Given the description of an element on the screen output the (x, y) to click on. 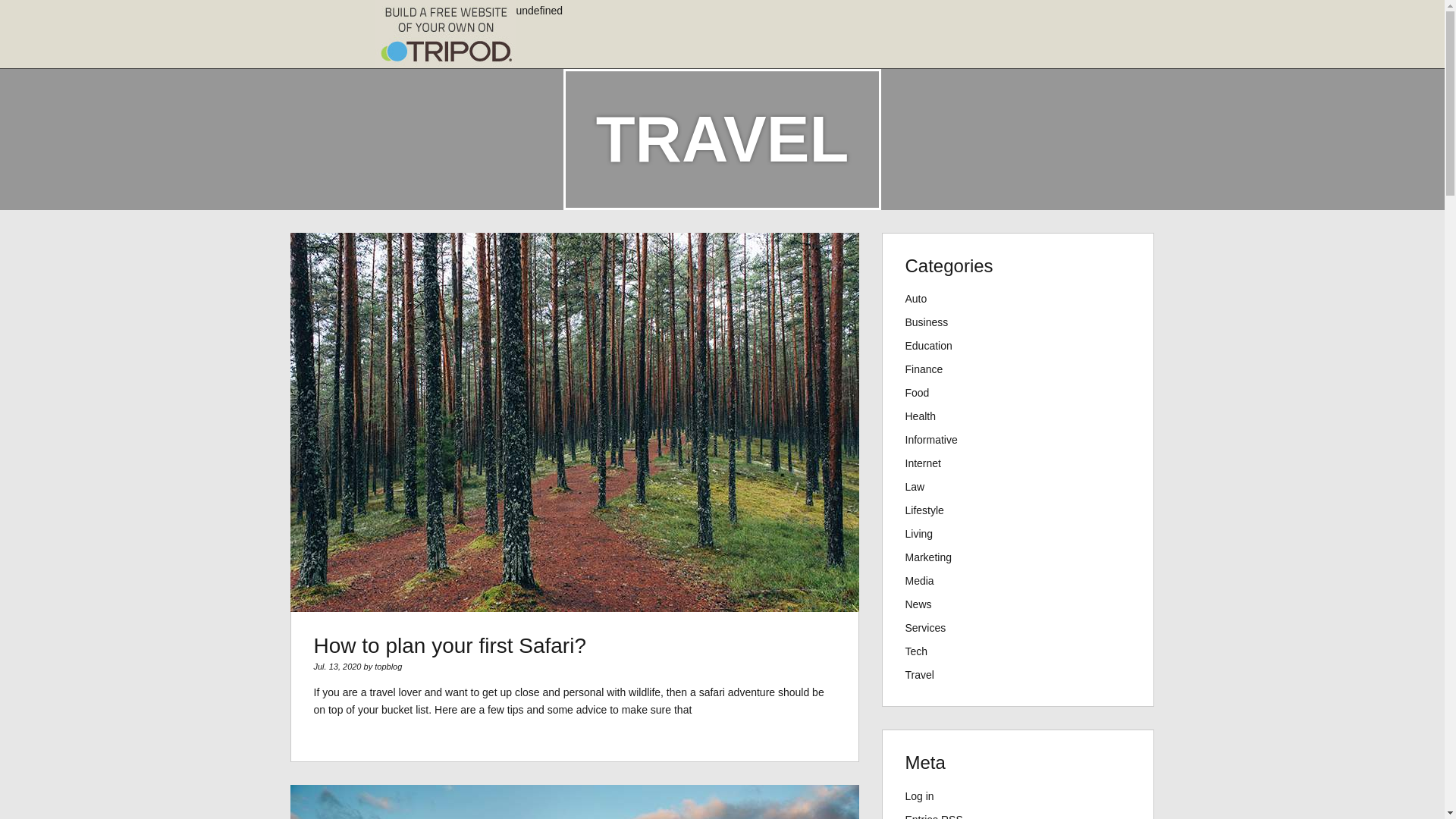
topblog (387, 665)
Travel (869, 53)
How to plan your first Safari? (450, 645)
Food (917, 392)
MEDIA (668, 52)
Auto (916, 298)
Finance (466, 52)
Lifestyle (924, 510)
Health (920, 416)
Education (928, 345)
